Given the description of an element on the screen output the (x, y) to click on. 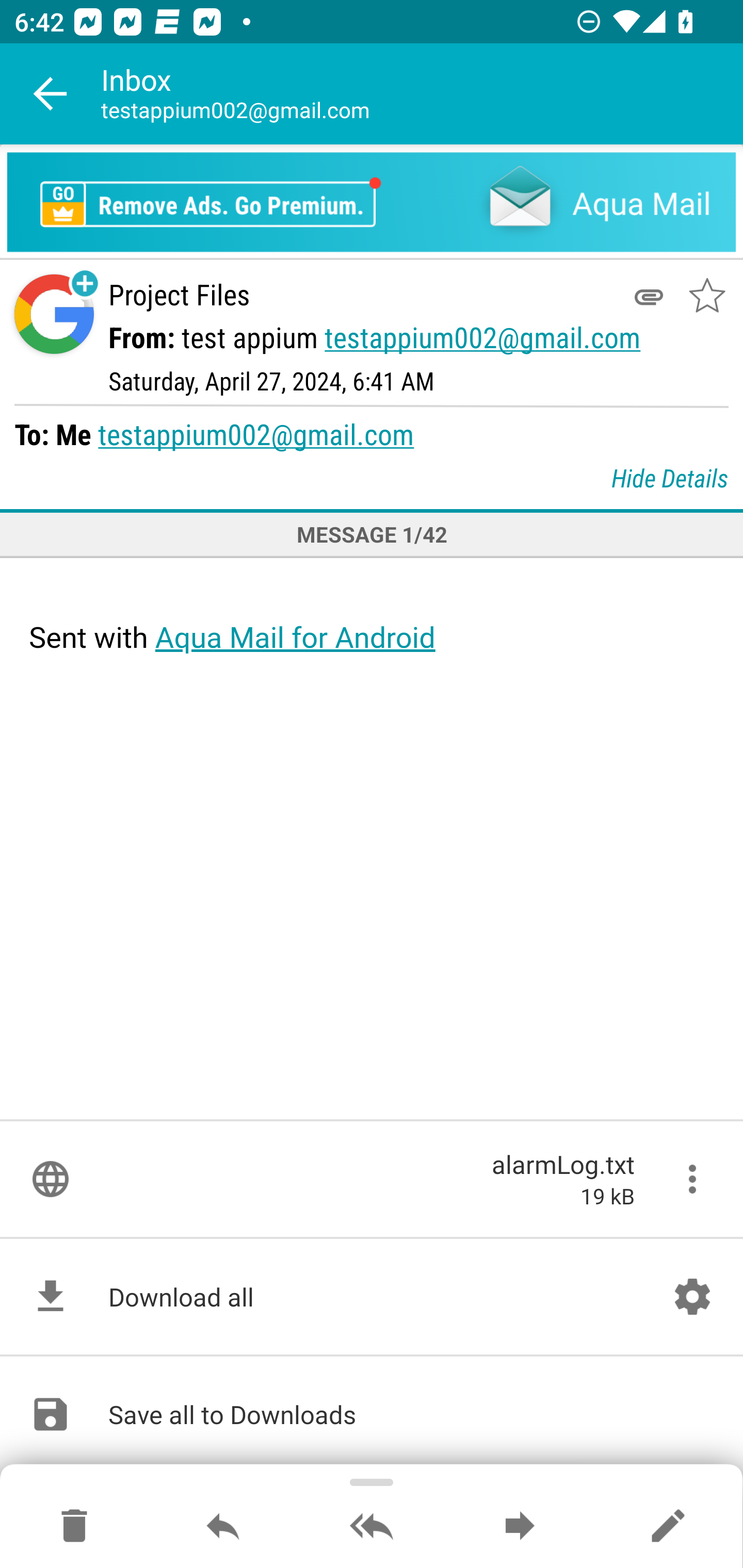
Navigate up (50, 93)
Inbox testappium002@gmail.com (422, 93)
Sender contact button (53, 314)
alarmLog.txt 19 kB More options (371, 1179)
More options (692, 1179)
Download all Account setup (371, 1296)
Account setup (692, 1296)
Save all to Downloads (371, 1414)
Move to Deleted (74, 1527)
Reply (222, 1527)
Reply all (371, 1527)
Forward (519, 1527)
Reply as new (667, 1527)
